Given the description of an element on the screen output the (x, y) to click on. 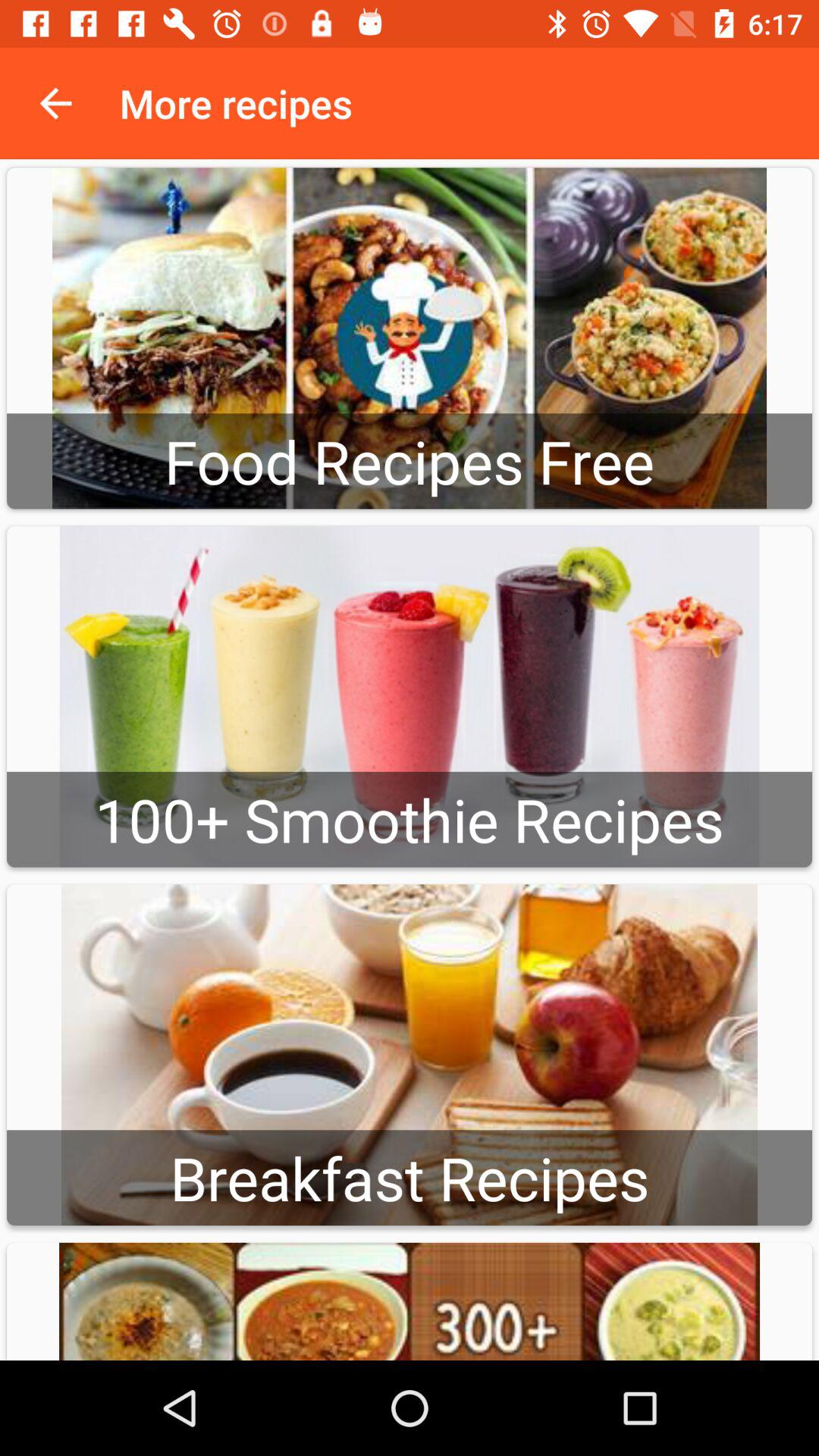
turn on the item next to more recipes item (55, 103)
